Given the description of an element on the screen output the (x, y) to click on. 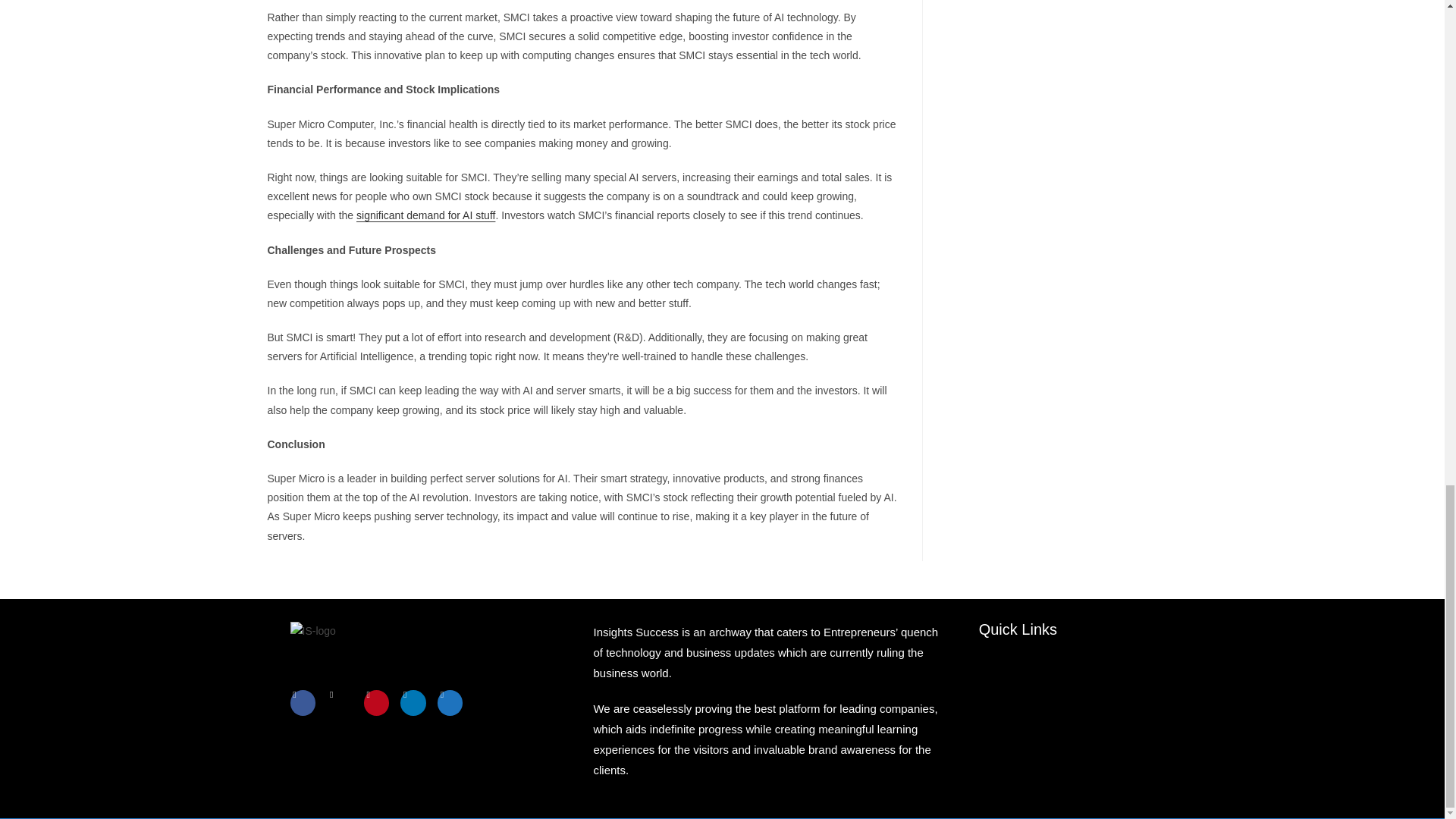
significant demand for AI stuff (425, 215)
